Given the description of an element on the screen output the (x, y) to click on. 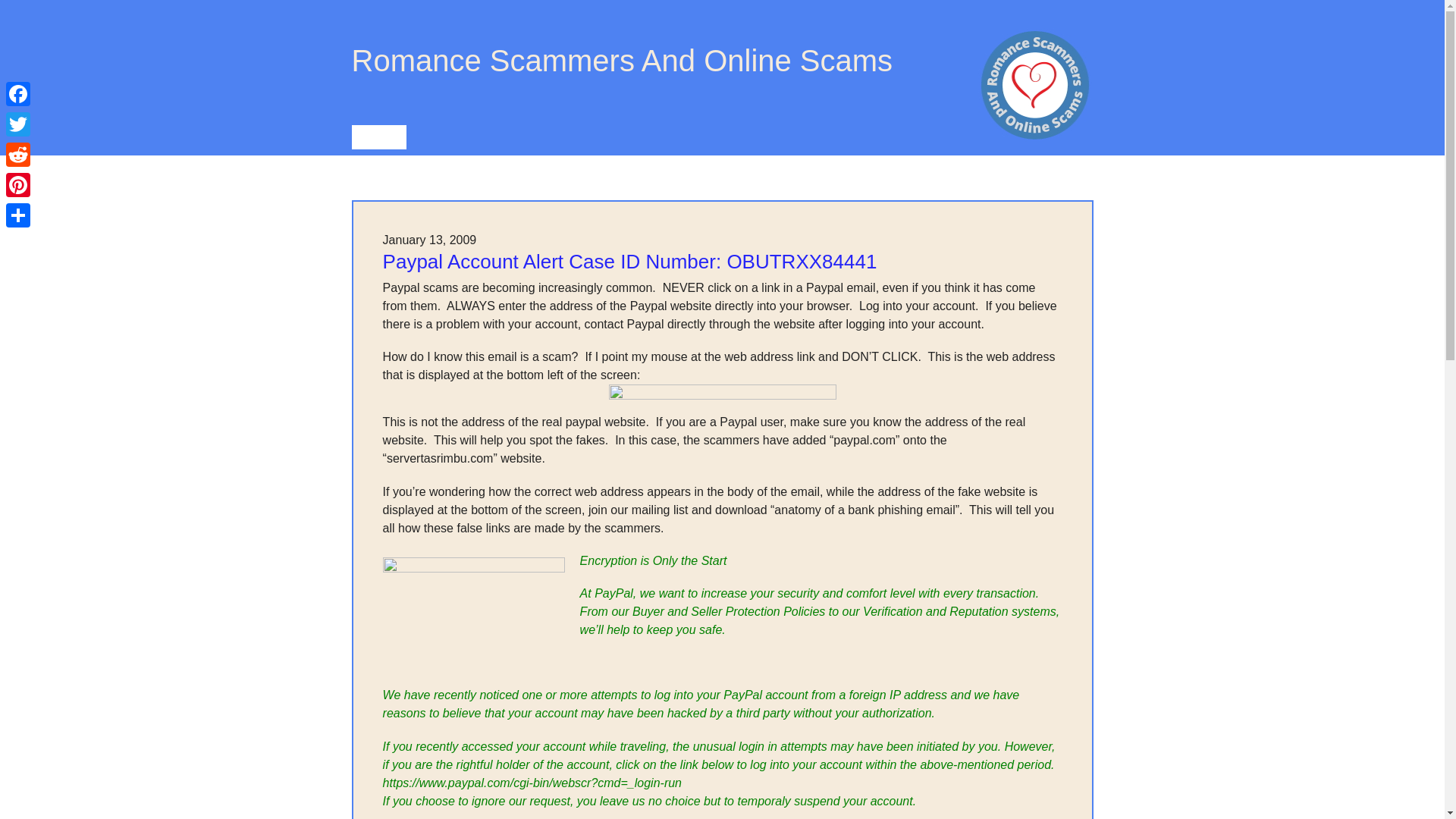
Pinterest (17, 184)
Facebook (17, 93)
Facebook (17, 93)
Twitter (17, 123)
Reddit (17, 154)
fake paypal web address (721, 393)
Twitter (17, 123)
Home (379, 137)
Pinterest (17, 184)
Reddit (17, 154)
Paypal Account Alert Case ID Number: OBUTRXX84441 (629, 261)
